Given the description of an element on the screen output the (x, y) to click on. 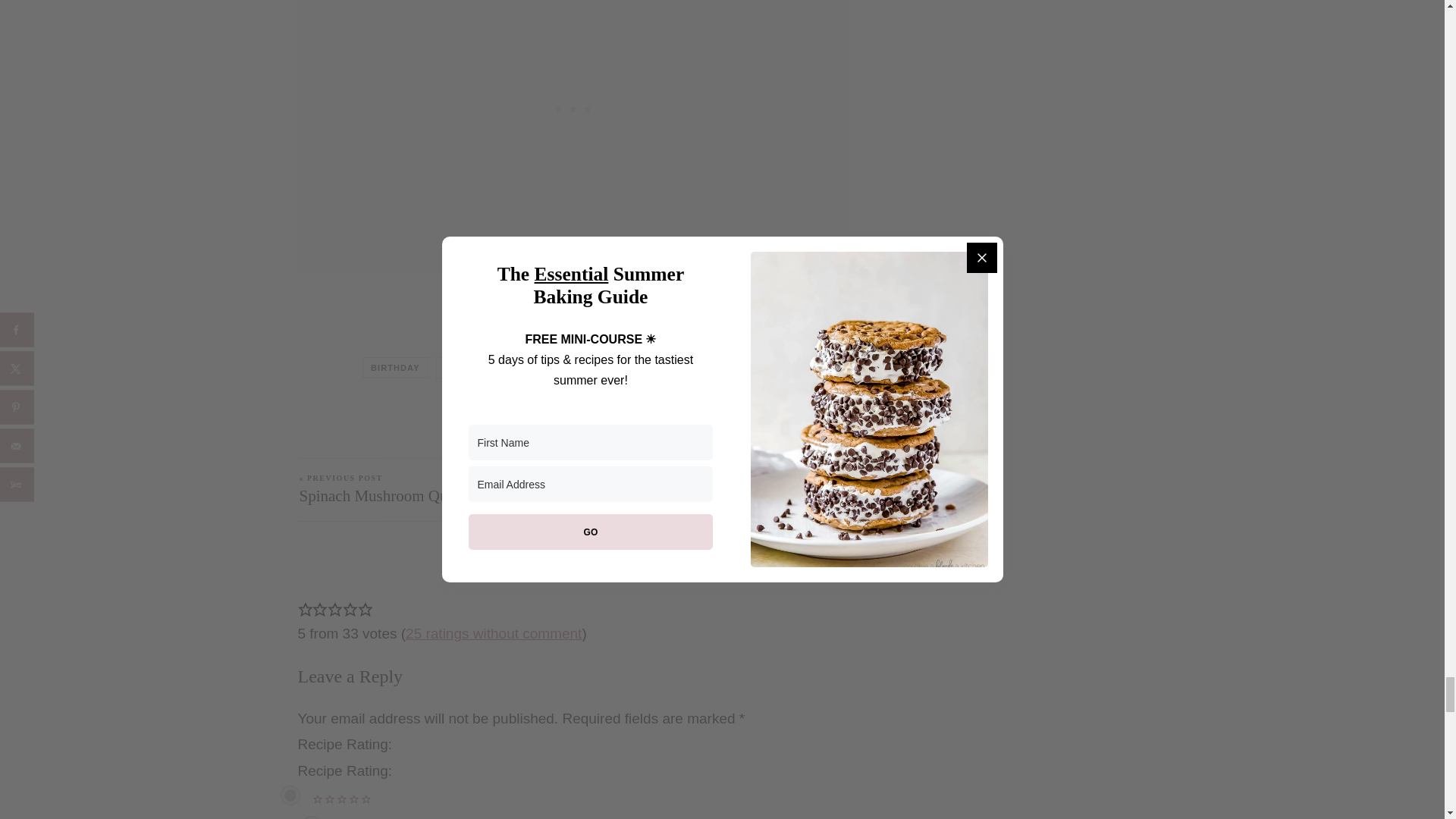
0 (290, 795)
1 (311, 817)
